Given the description of an element on the screen output the (x, y) to click on. 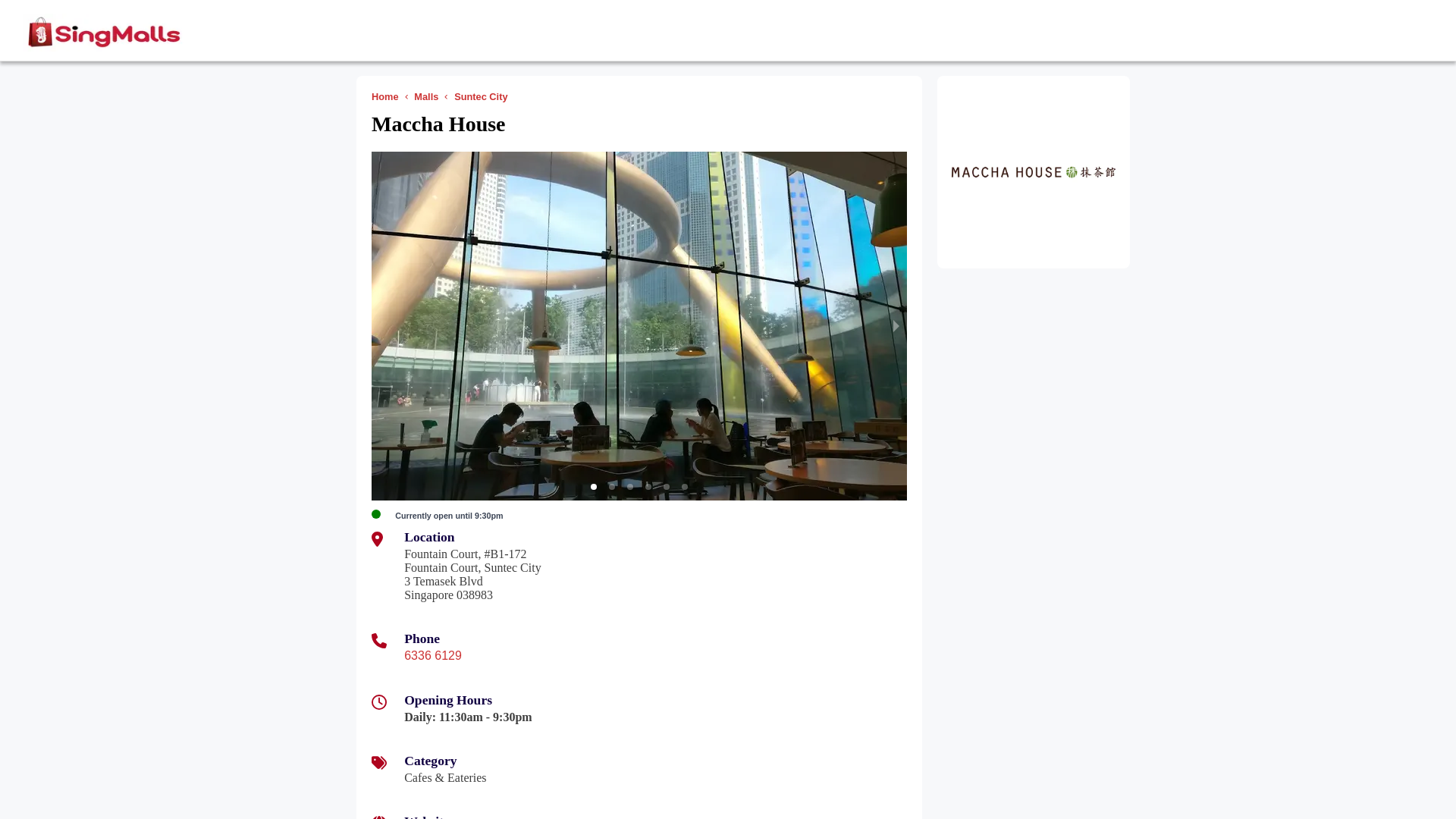
Malls (428, 96)
Home (387, 96)
Home (387, 96)
Suntec City (483, 96)
6336 6129 (432, 655)
Malls (428, 96)
Suntec City (483, 96)
